Given the description of an element on the screen output the (x, y) to click on. 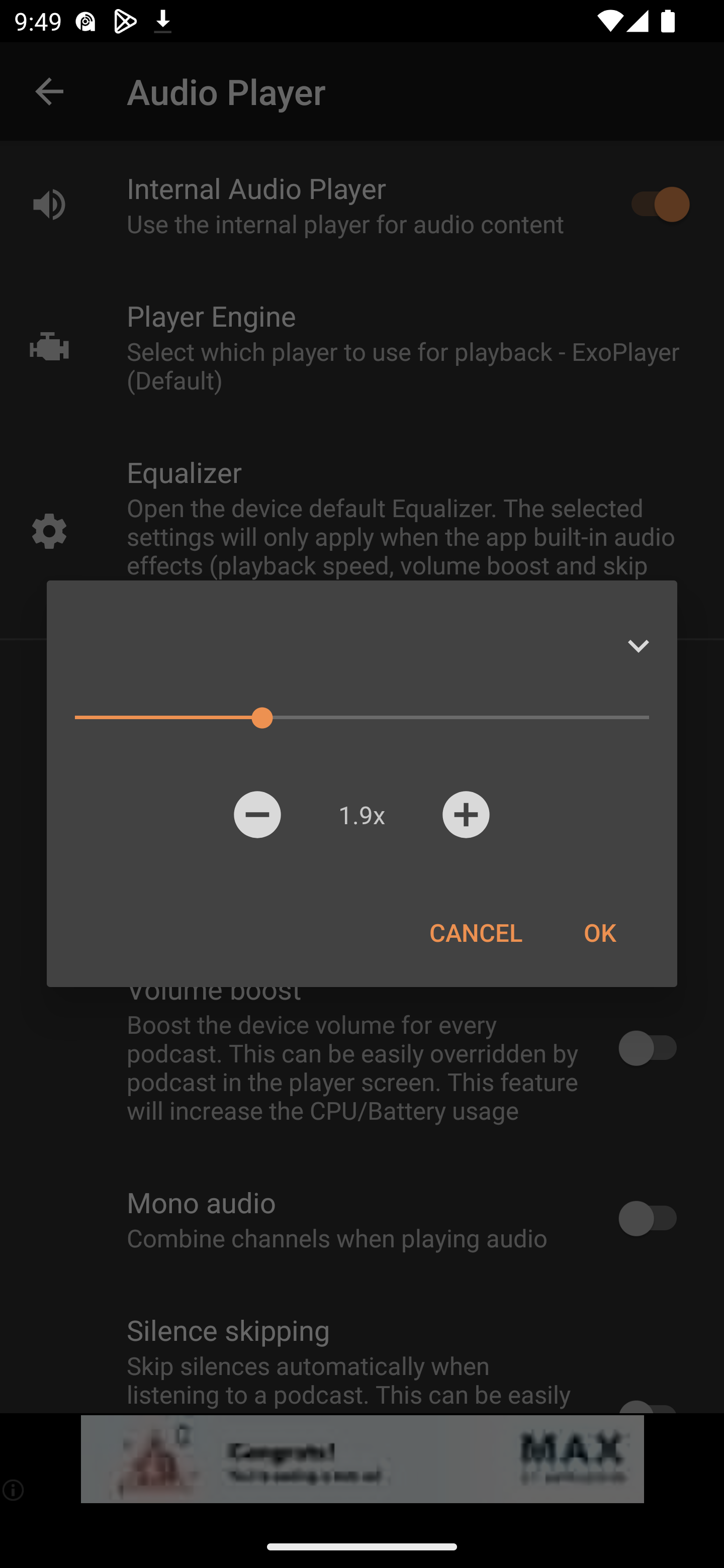
Expand (637, 645)
1.9x (361, 814)
CANCEL (475, 932)
OK (599, 932)
